Given the description of an element on the screen output the (x, y) to click on. 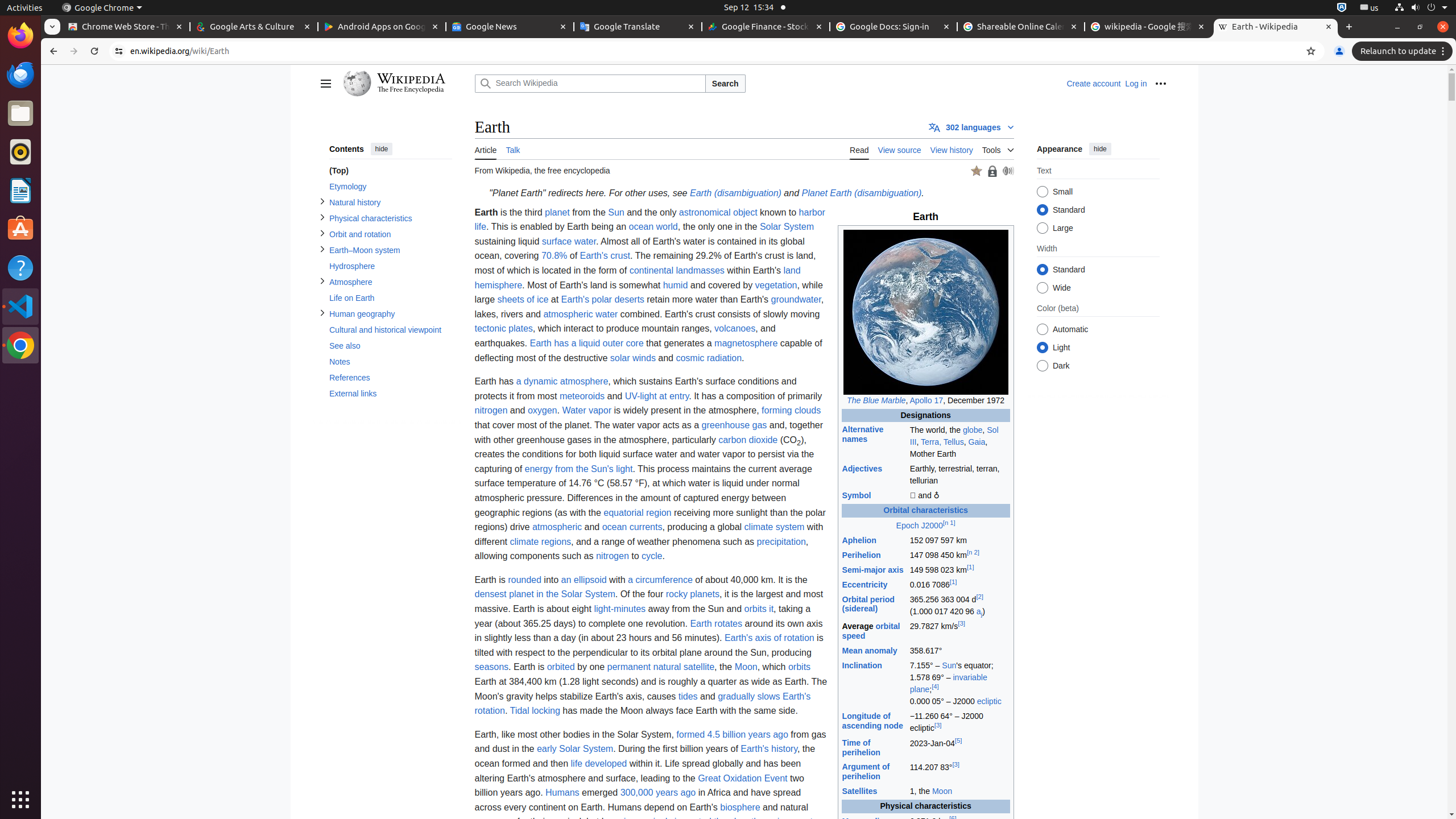
nitrogen Element type: link (490, 410)
Toggle Natural history subsection Element type: push-button (321, 201)
climate regions Element type: link (540, 541)
[5] Element type: link (958, 739)
energy from the Sun's light Element type: link (578, 468)
